Given the description of an element on the screen output the (x, y) to click on. 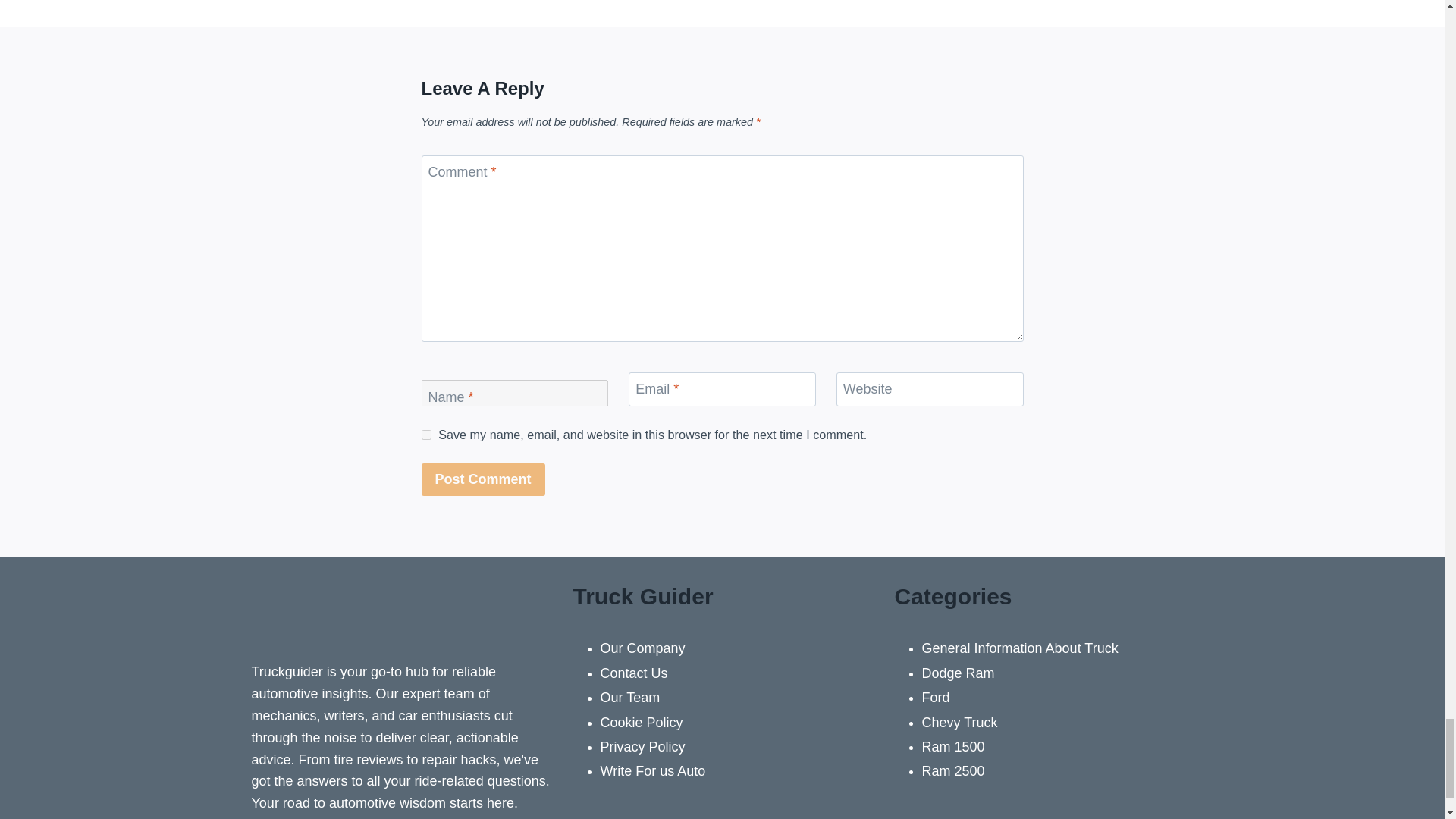
Post Comment (483, 479)
yes (426, 434)
